Given the description of an element on the screen output the (x, y) to click on. 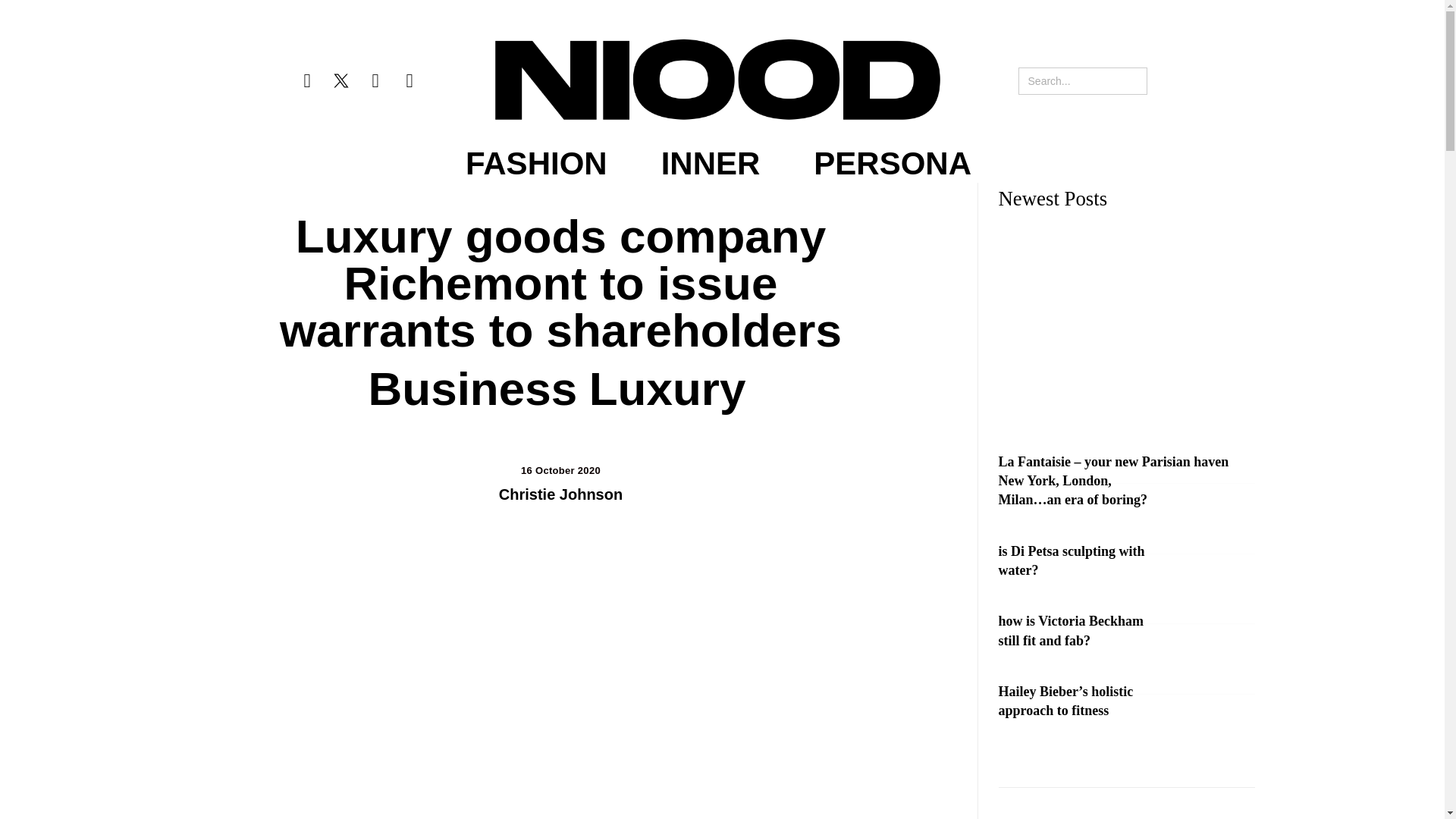
Business (473, 388)
FASHION (536, 163)
PERSONA (892, 163)
Luxury (667, 388)
Christie Johnson (561, 494)
INNER (710, 163)
